Given the description of an element on the screen output the (x, y) to click on. 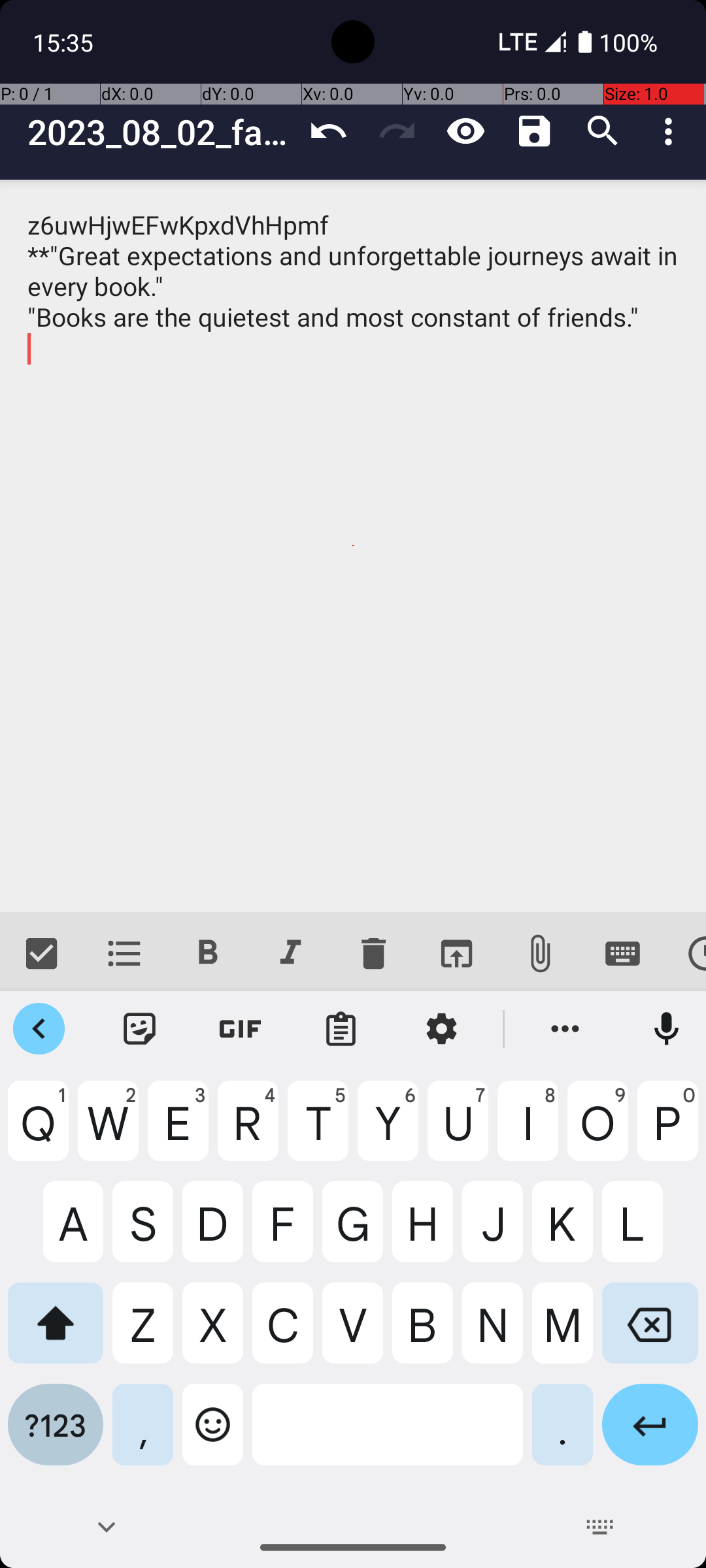
2023_08_02_favorite_book_quotes Element type: android.widget.TextView (160, 131)
z6uwHjwEFwKpxdVhHpmf
**"Great expectations and unforgettable journeys await in every book."
"Books are the quietest and most constant  Element type: android.widget.EditText (353, 545)
for Element type: android.widget.FrameLayout (163, 1028)
and Element type: android.widget.FrameLayout (352, 1028)
of Element type: android.widget.FrameLayout (541, 1028)
